Given the description of an element on the screen output the (x, y) to click on. 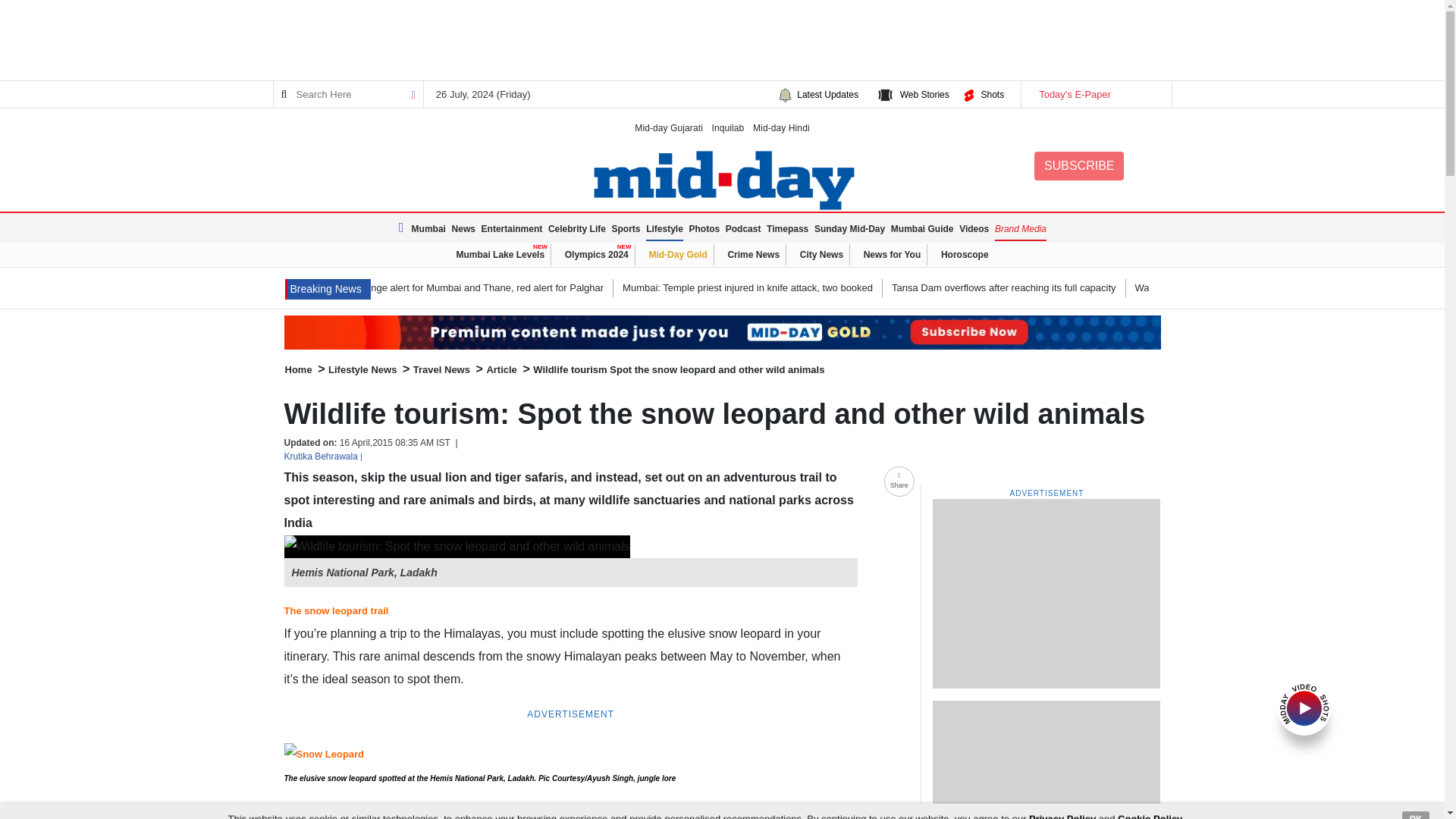
Latest News (328, 289)
Today's E-Paper (1095, 94)
Midday Shot Videos (1304, 706)
SUBSCRIBE (1078, 165)
Subscription (721, 332)
Inquilab (728, 127)
Mid-day Hindi (780, 127)
Mid-day Gujarati (668, 127)
Latest News (403, 227)
Latest Updates (827, 94)
Shots (991, 94)
Web Stories (924, 94)
